Given the description of an element on the screen output the (x, y) to click on. 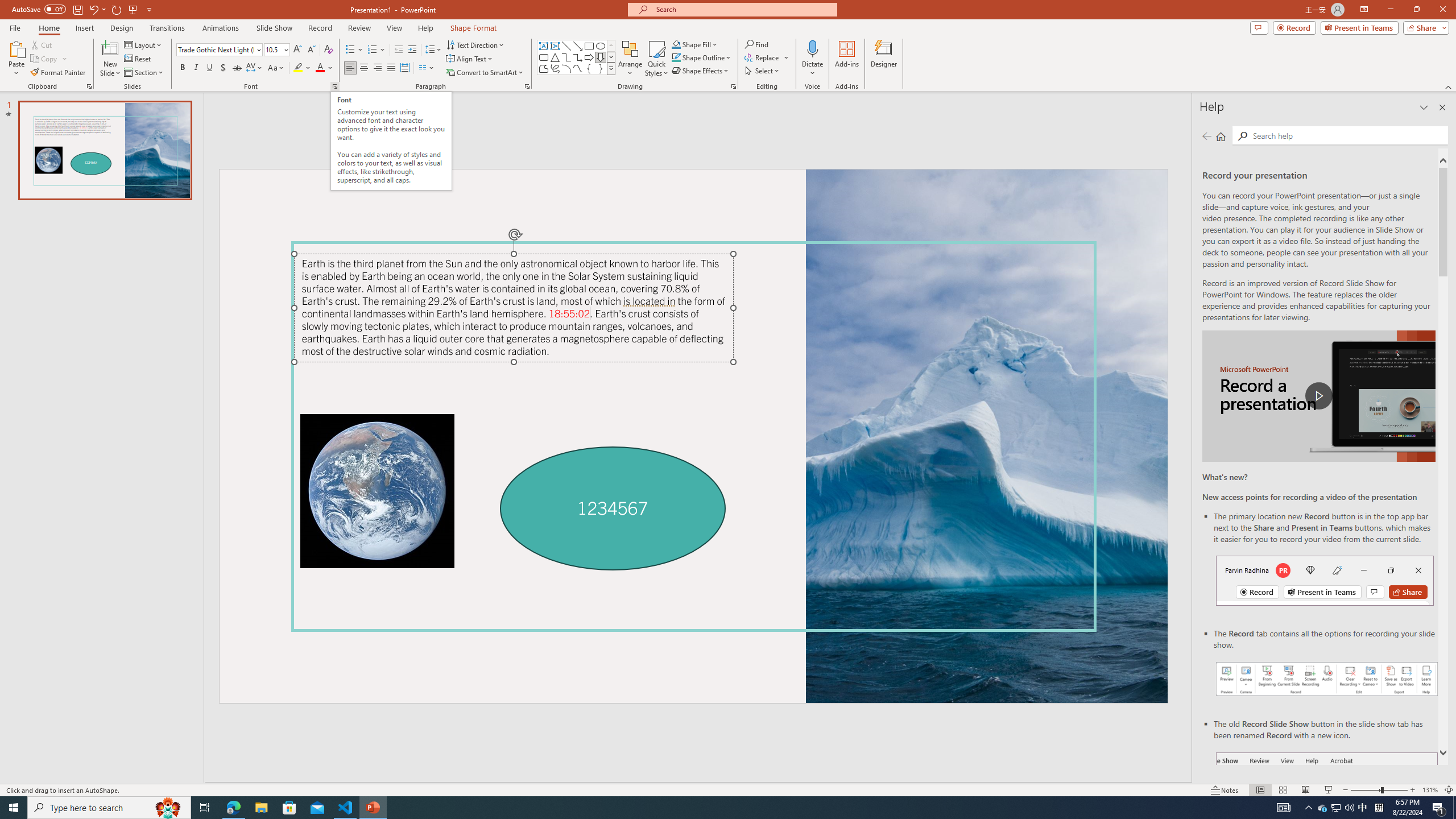
Text Highlight Color (302, 67)
Isosceles Triangle (554, 57)
Zoom 131% (1430, 790)
Align Right (377, 67)
Connector: Elbow (566, 57)
Copy (49, 58)
Font Color (324, 67)
Font (215, 49)
Font Size (273, 49)
Shape Effects (700, 69)
Shape Format (473, 28)
AutomationID: ShapesInsertGallery (576, 57)
